Given the description of an element on the screen output the (x, y) to click on. 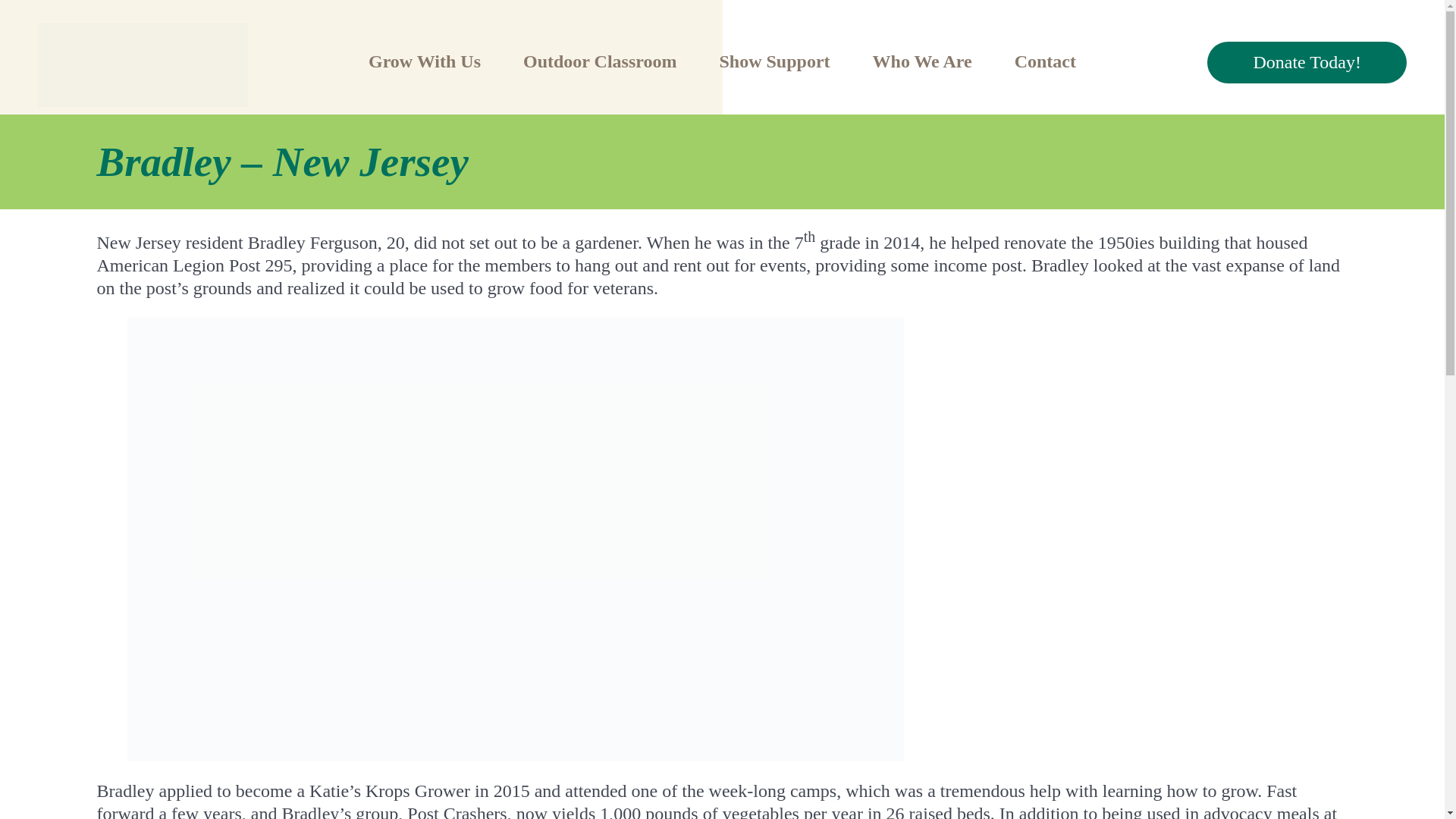
Outdoor Classroom (608, 60)
Donate Today! (1306, 62)
Contact (1044, 60)
